Given the description of an element on the screen output the (x, y) to click on. 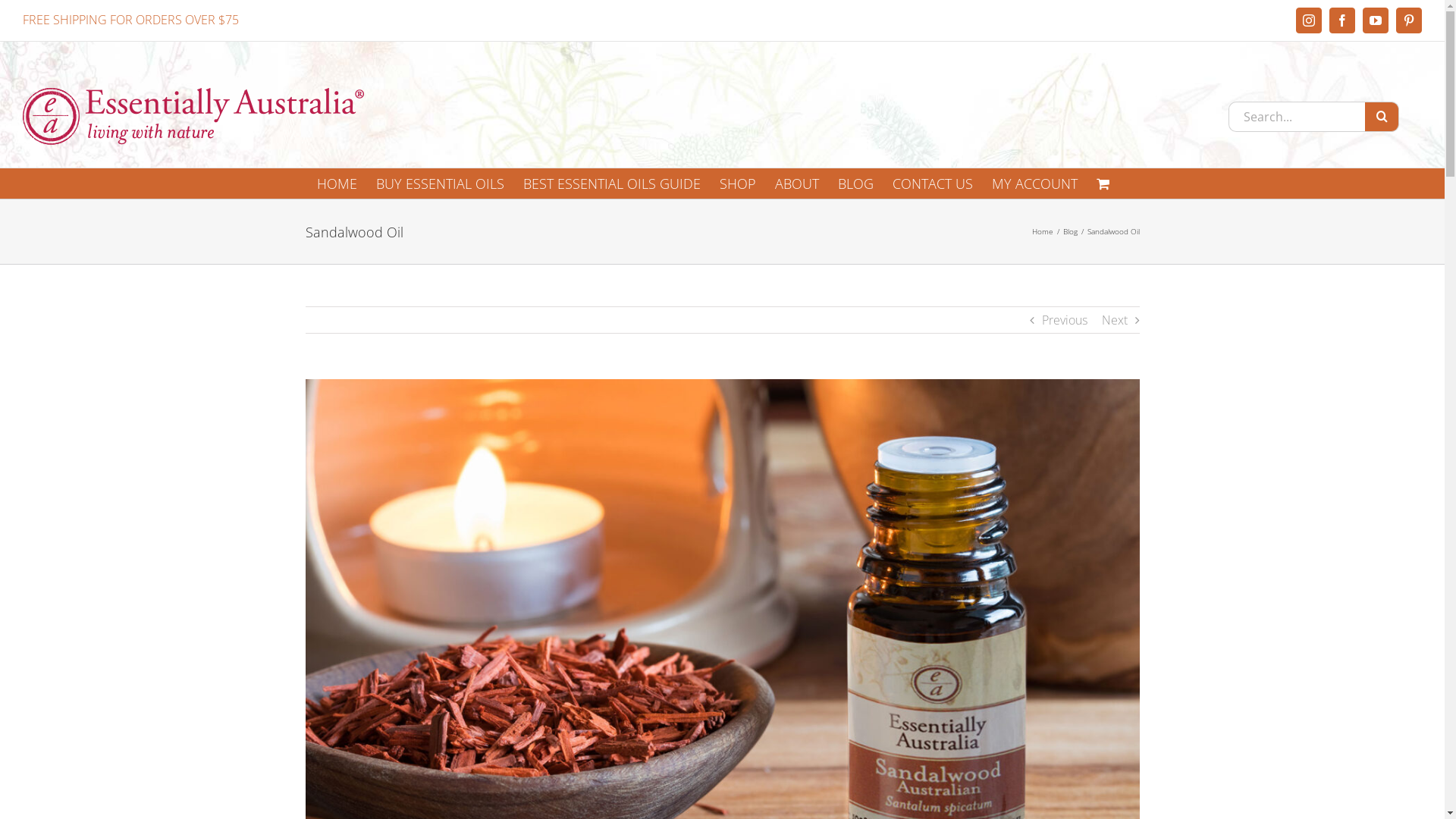
Next Element type: text (1113, 319)
Instagram Element type: text (1308, 20)
Previous Element type: text (1064, 319)
Pinterest Element type: text (1408, 20)
Log In Element type: text (1089, 310)
SHOP Element type: text (736, 183)
YouTube Element type: text (1375, 20)
Facebook Element type: text (1342, 20)
CONTACT US Element type: text (931, 183)
ABOUT Element type: text (797, 183)
Blog Element type: text (1070, 230)
BUY ESSENTIAL OILS Element type: text (440, 183)
BLOG Element type: text (854, 183)
BEST ESSENTIAL OILS GUIDE Element type: text (611, 183)
HOME Element type: text (336, 183)
Home Element type: text (1041, 230)
MY ACCOUNT Element type: text (1034, 183)
